Given the description of an element on the screen output the (x, y) to click on. 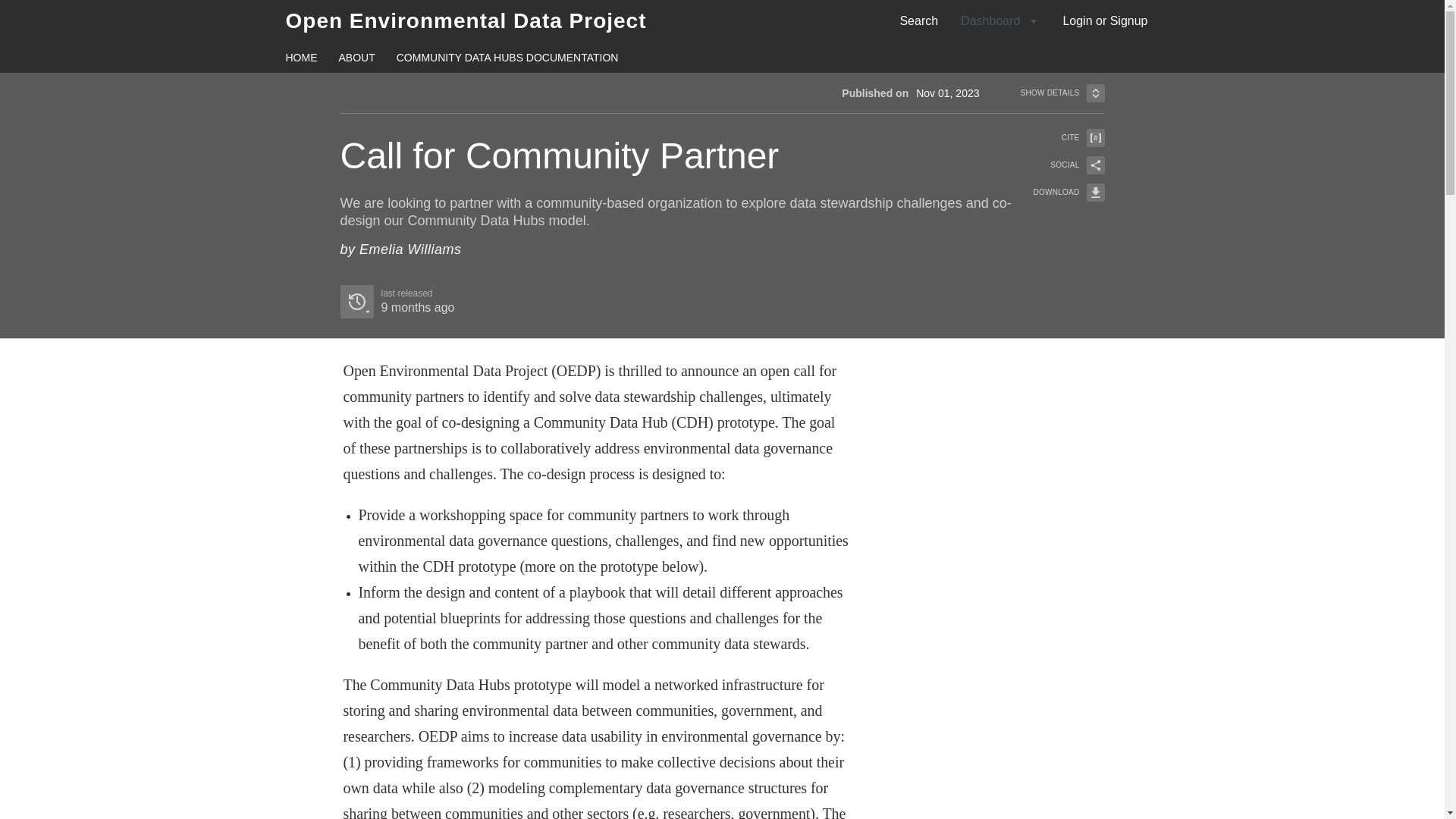
CITE (1058, 137)
ABOUT (355, 57)
COMMUNITY DATA HUBS DOCUMENTATION (507, 57)
Search (918, 20)
SOCIAL (1058, 165)
Open Environmental Data Project (465, 20)
SHOW DETAILS (1062, 93)
DOWNLOAD (721, 82)
